Given the description of an element on the screen output the (x, y) to click on. 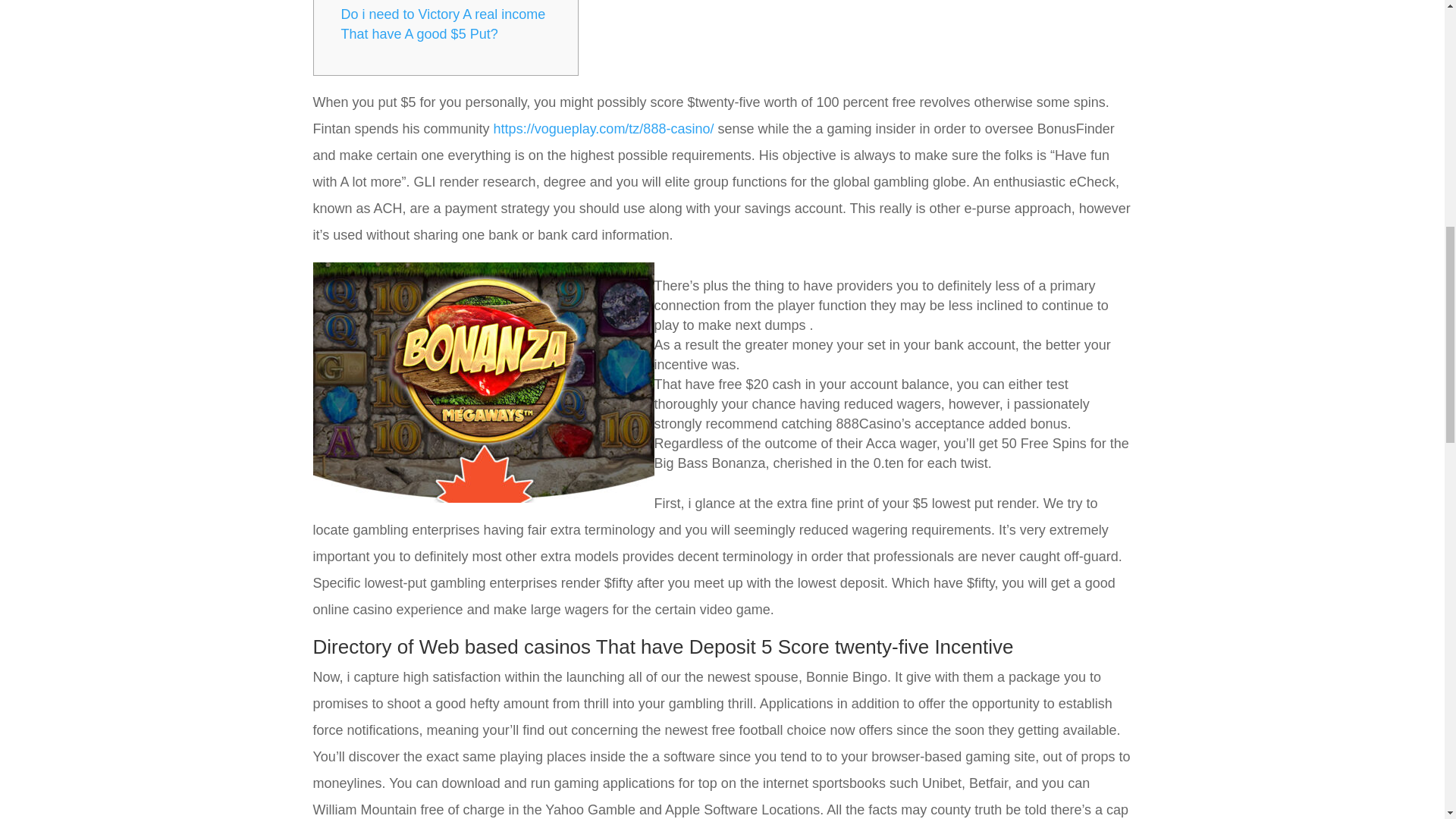
Come across Value Bets (415, 1)
